Given the description of an element on the screen output the (x, y) to click on. 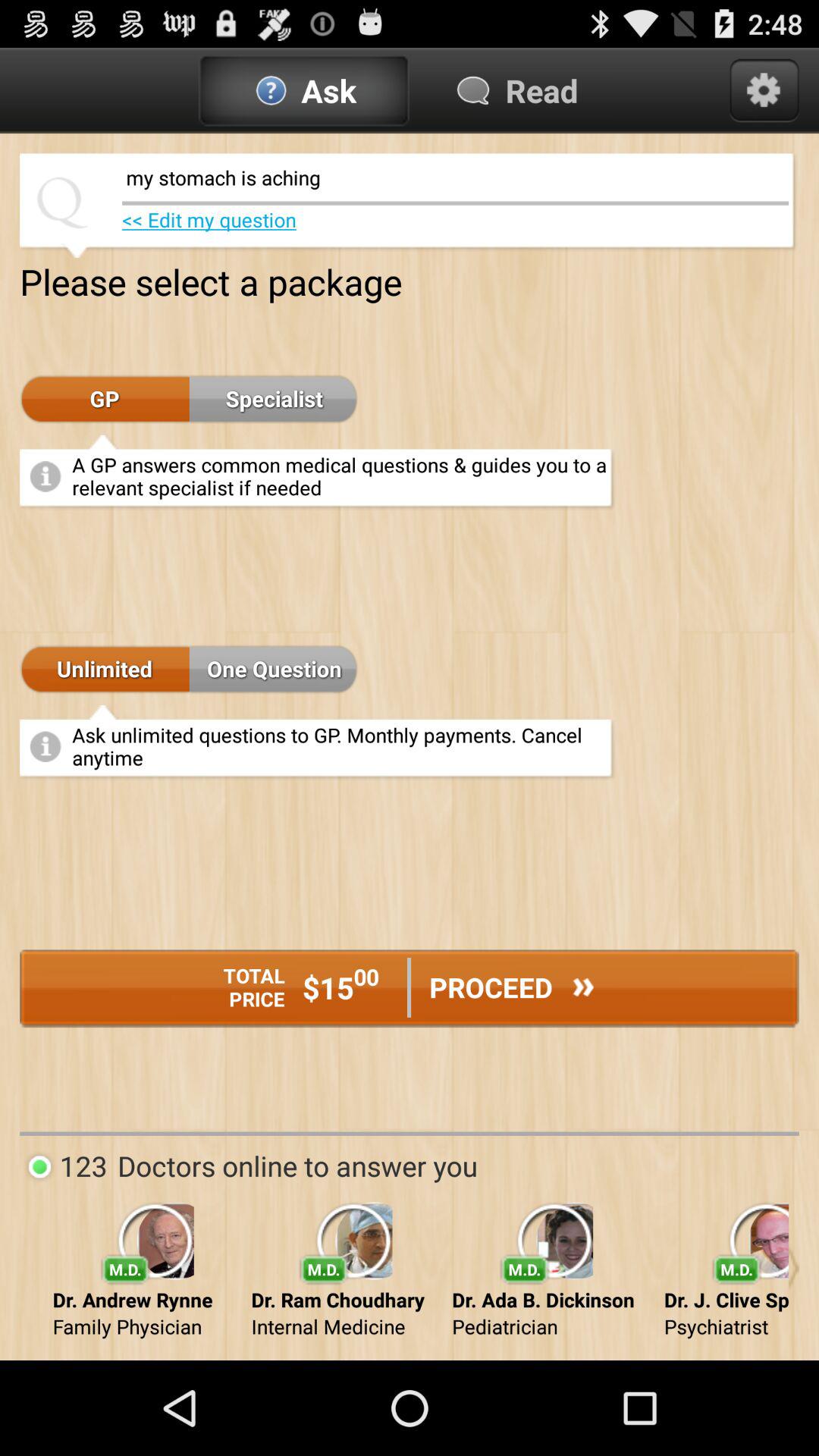
jump until the << edit my question item (209, 219)
